Given the description of an element on the screen output the (x, y) to click on. 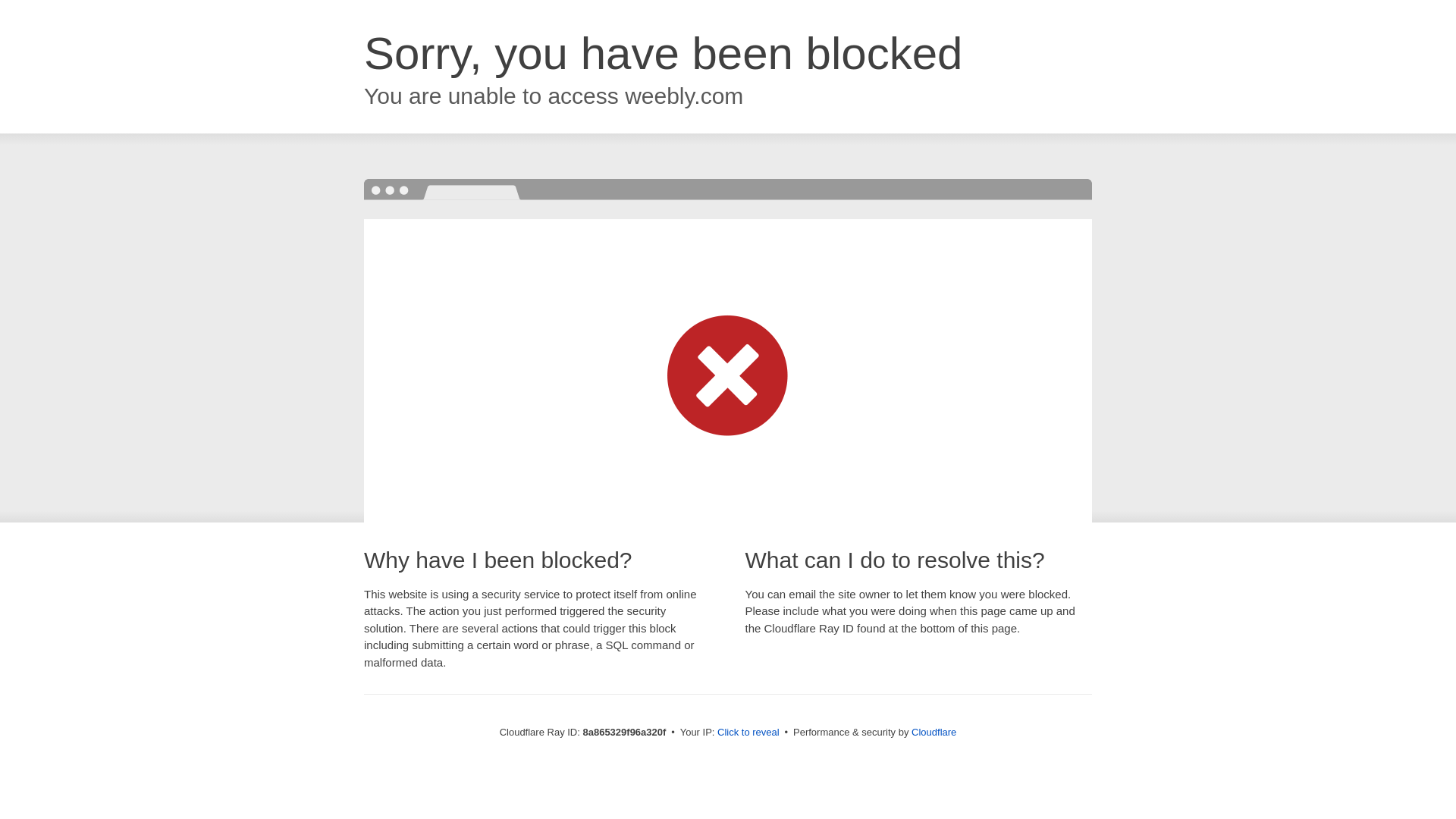
Click to reveal (747, 732)
Cloudflare (933, 731)
